Given the description of an element on the screen output the (x, y) to click on. 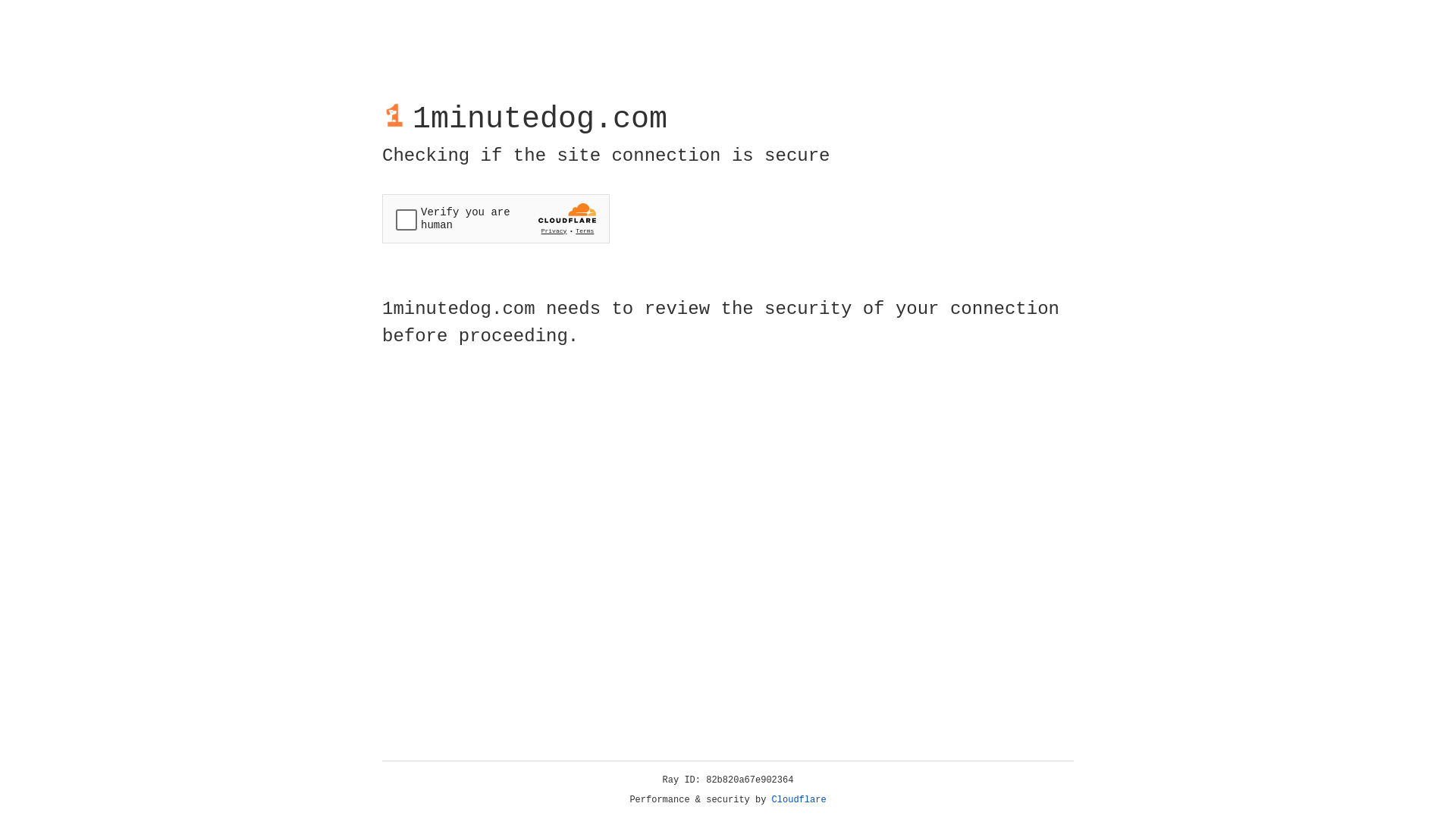
Widget containing a Cloudflare security challenge Element type: hover (495, 218)
Cloudflare Element type: text (798, 799)
